Given the description of an element on the screen output the (x, y) to click on. 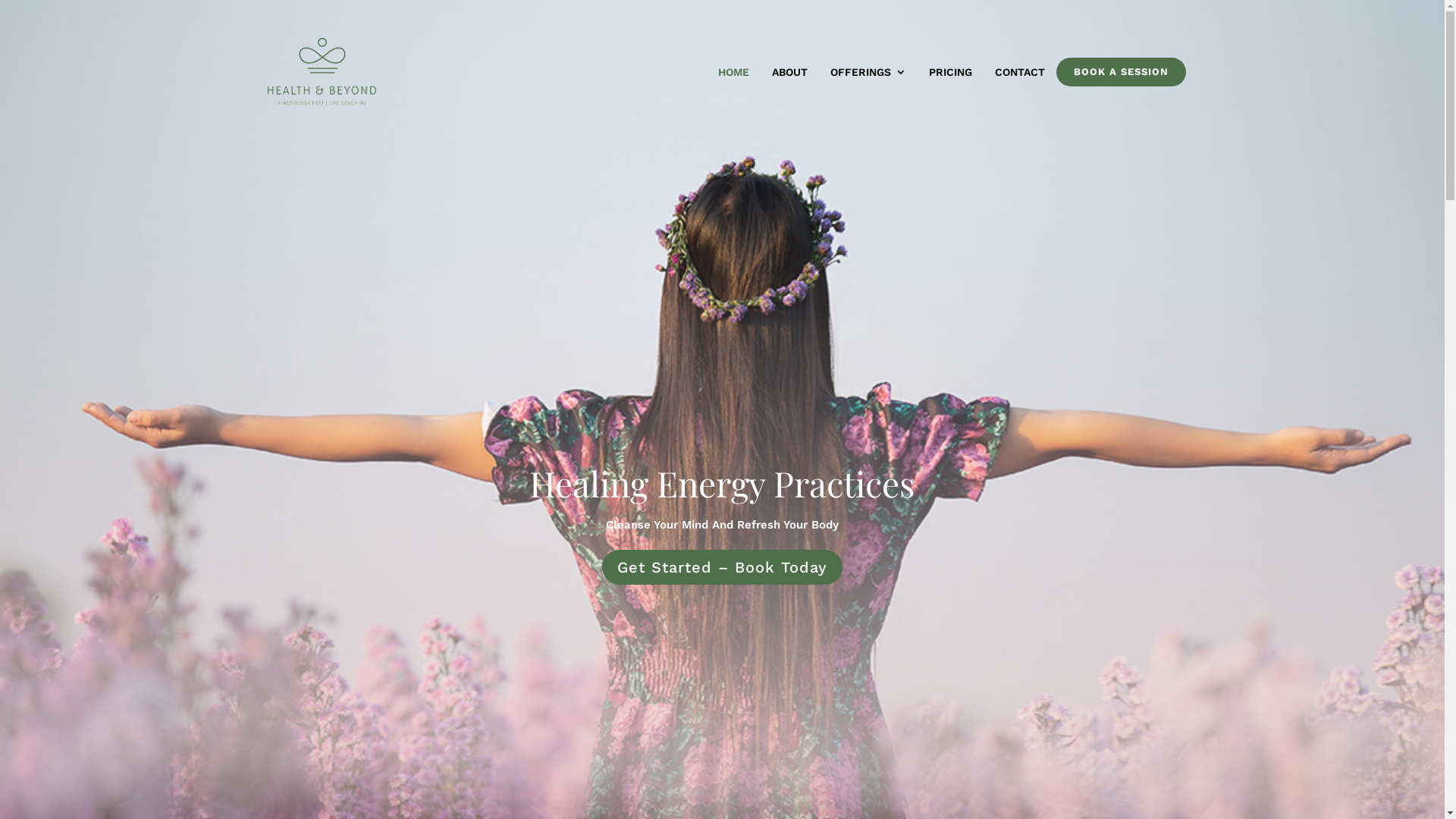
BOOK A SESSION Element type: text (1120, 71)
HOME Element type: text (732, 71)
ABOUT Element type: text (789, 71)
PRICING Element type: text (949, 71)
CONTACT Element type: text (1019, 71)
OFFERINGS Element type: text (867, 71)
Healing Energy Practices Element type: text (722, 482)
